Given the description of an element on the screen output the (x, y) to click on. 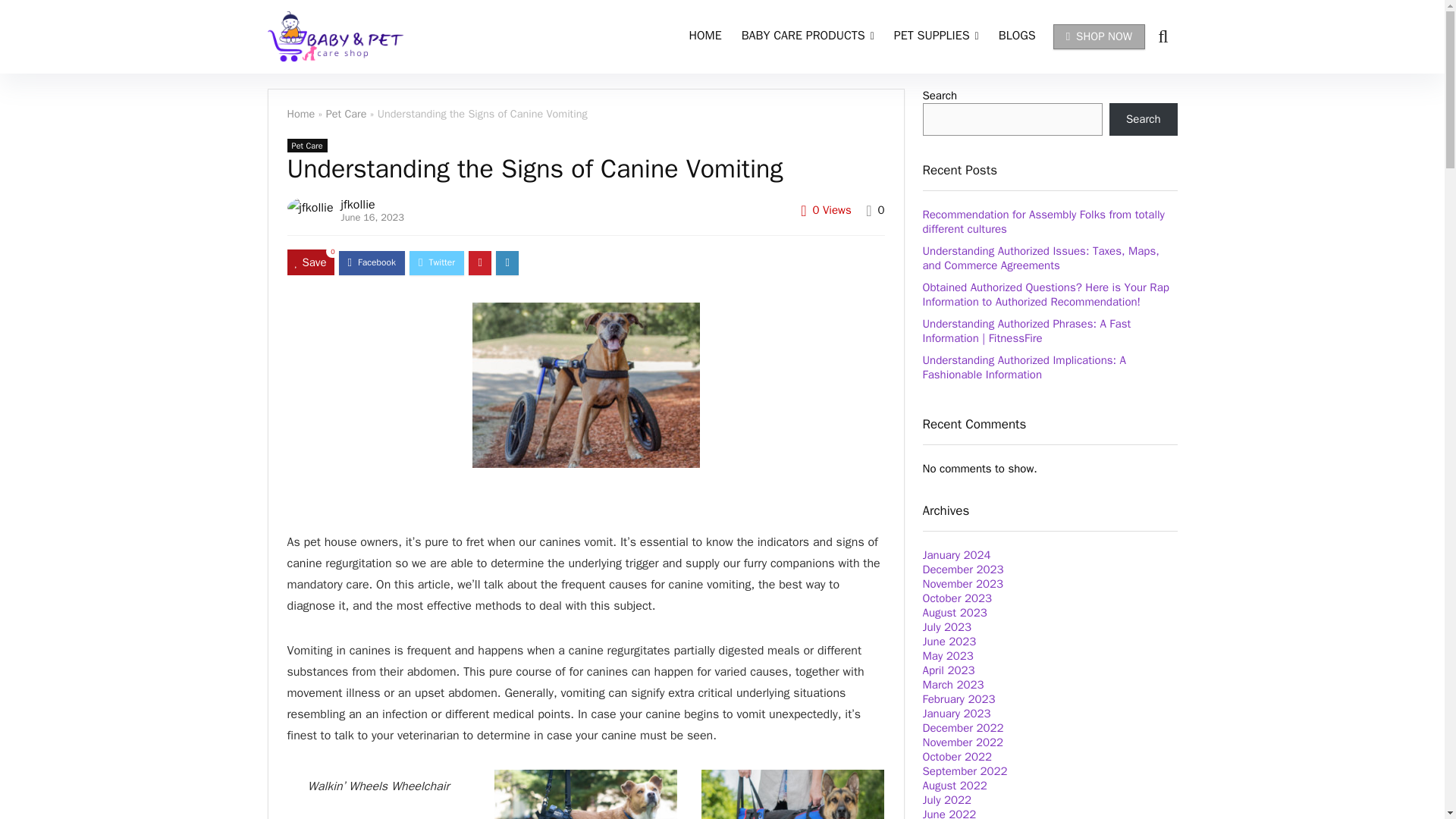
BABY CARE PRODUCTS (807, 36)
Pet Care (306, 145)
jfkollie (357, 204)
HOME (705, 36)
BLOGS (1016, 36)
Pet Care (346, 113)
Home (300, 113)
SHOP NOW (1098, 36)
PET SUPPLIES (935, 36)
View all posts in Pet Care (306, 145)
